Given the description of an element on the screen output the (x, y) to click on. 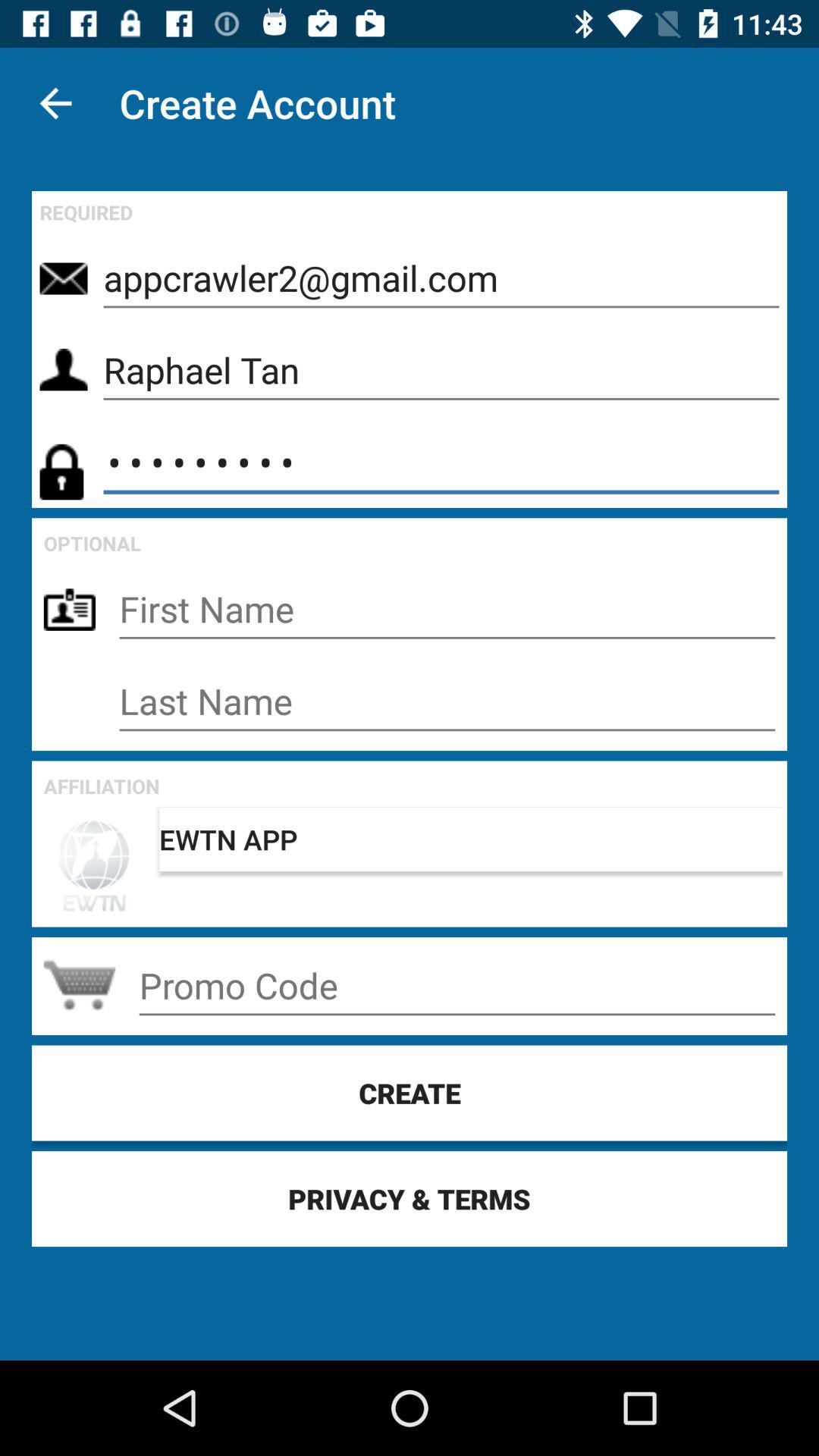
flip until the appcrawler2@gmail.com icon (441, 278)
